Given the description of an element on the screen output the (x, y) to click on. 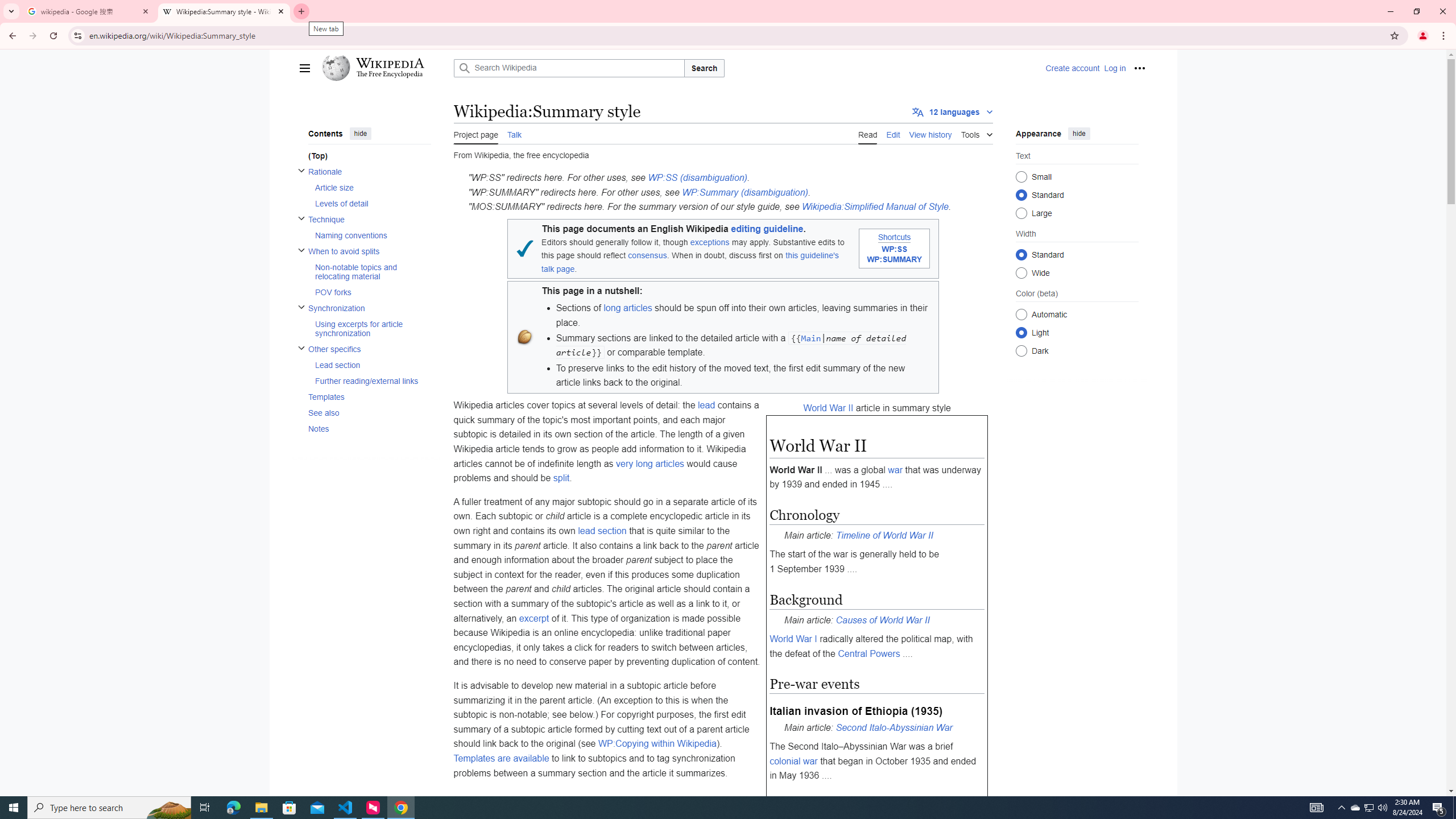
(Top) (368, 155)
Wikipedia:Summary style - Wikipedia (224, 11)
editing guideline (766, 228)
very long articles (649, 463)
Shortcuts (894, 236)
Causes of World War II (882, 619)
Personal tools (1139, 67)
Dark (1020, 350)
Main (810, 337)
Toggle Synchronization subsection (300, 306)
